Given the description of an element on the screen output the (x, y) to click on. 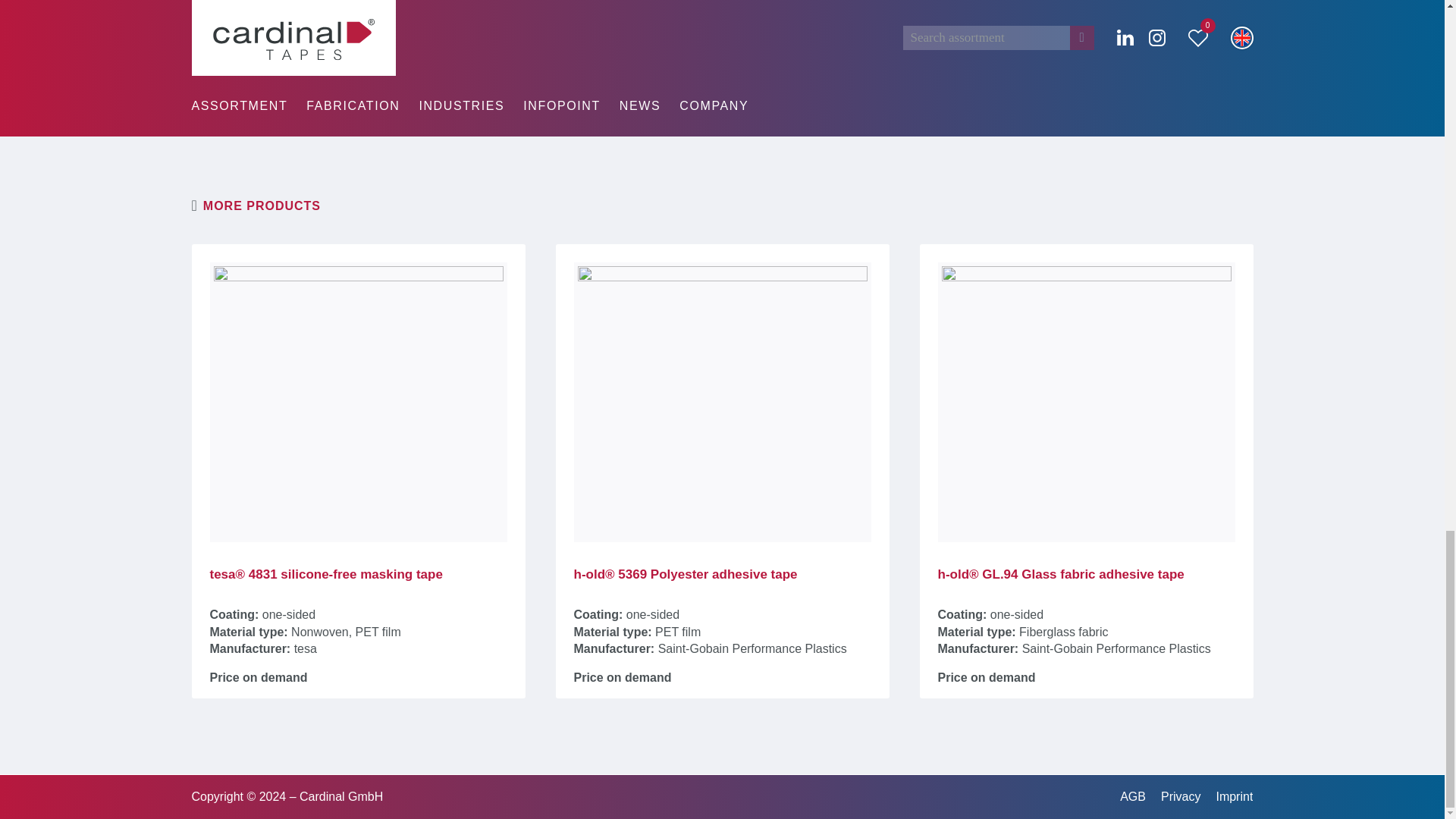
Absenden (1156, 8)
